Given the description of an element on the screen output the (x, y) to click on. 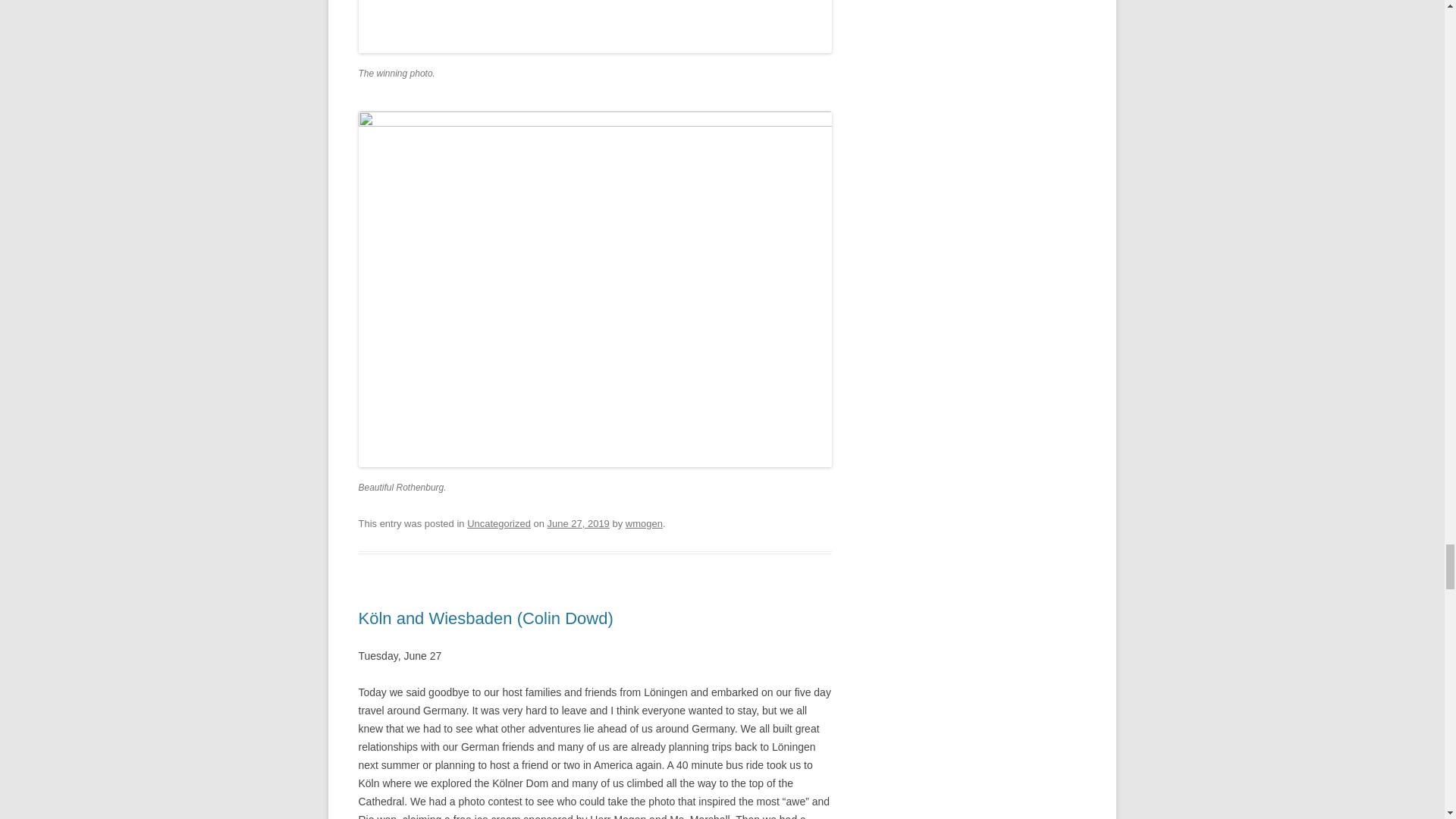
View all posts by wmogen (644, 523)
Uncategorized (499, 523)
12:58 pm (578, 523)
June 27, 2019 (578, 523)
wmogen (644, 523)
